Given the description of an element on the screen output the (x, y) to click on. 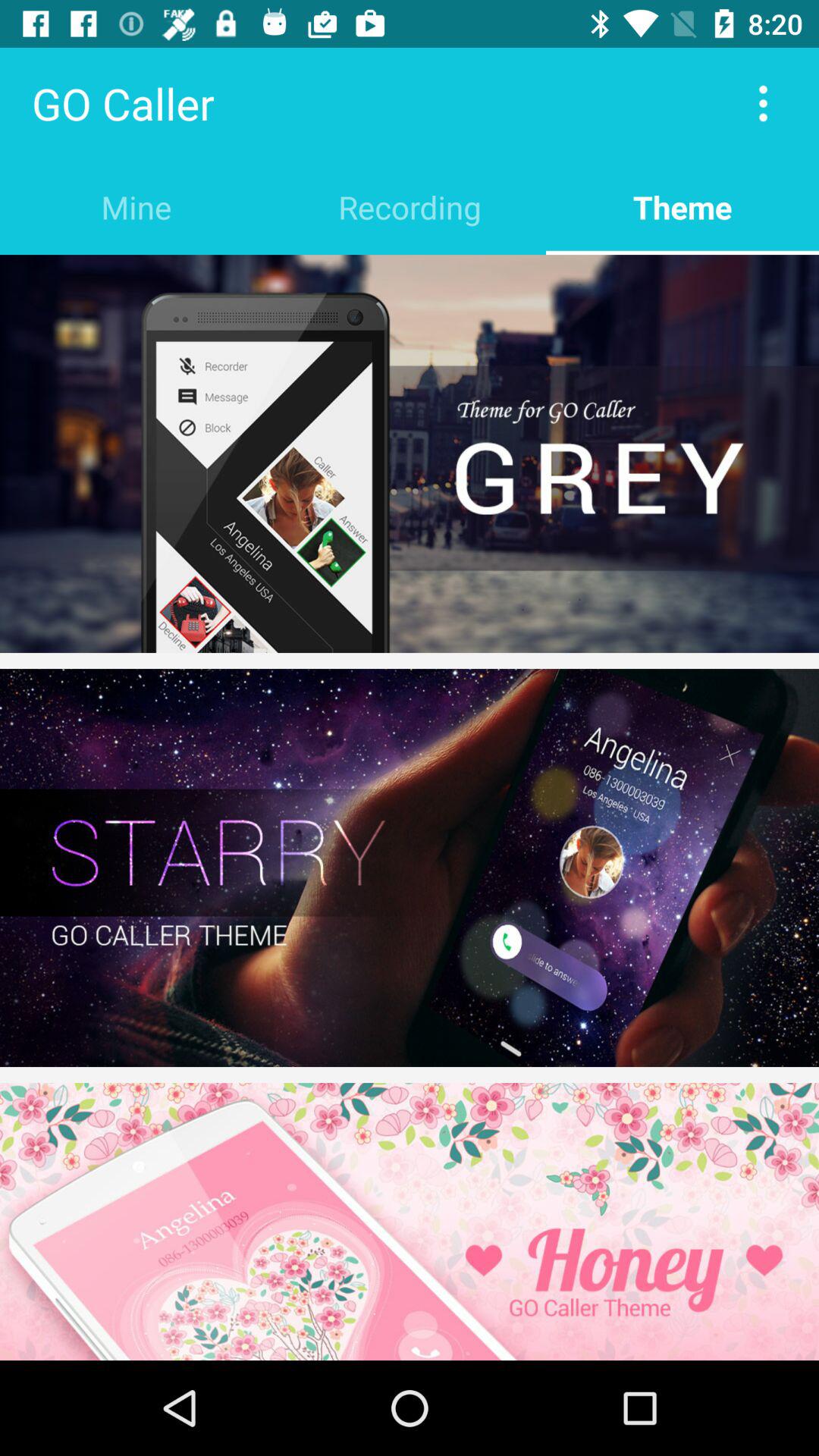
select item next to the go caller icon (763, 103)
